Given the description of an element on the screen output the (x, y) to click on. 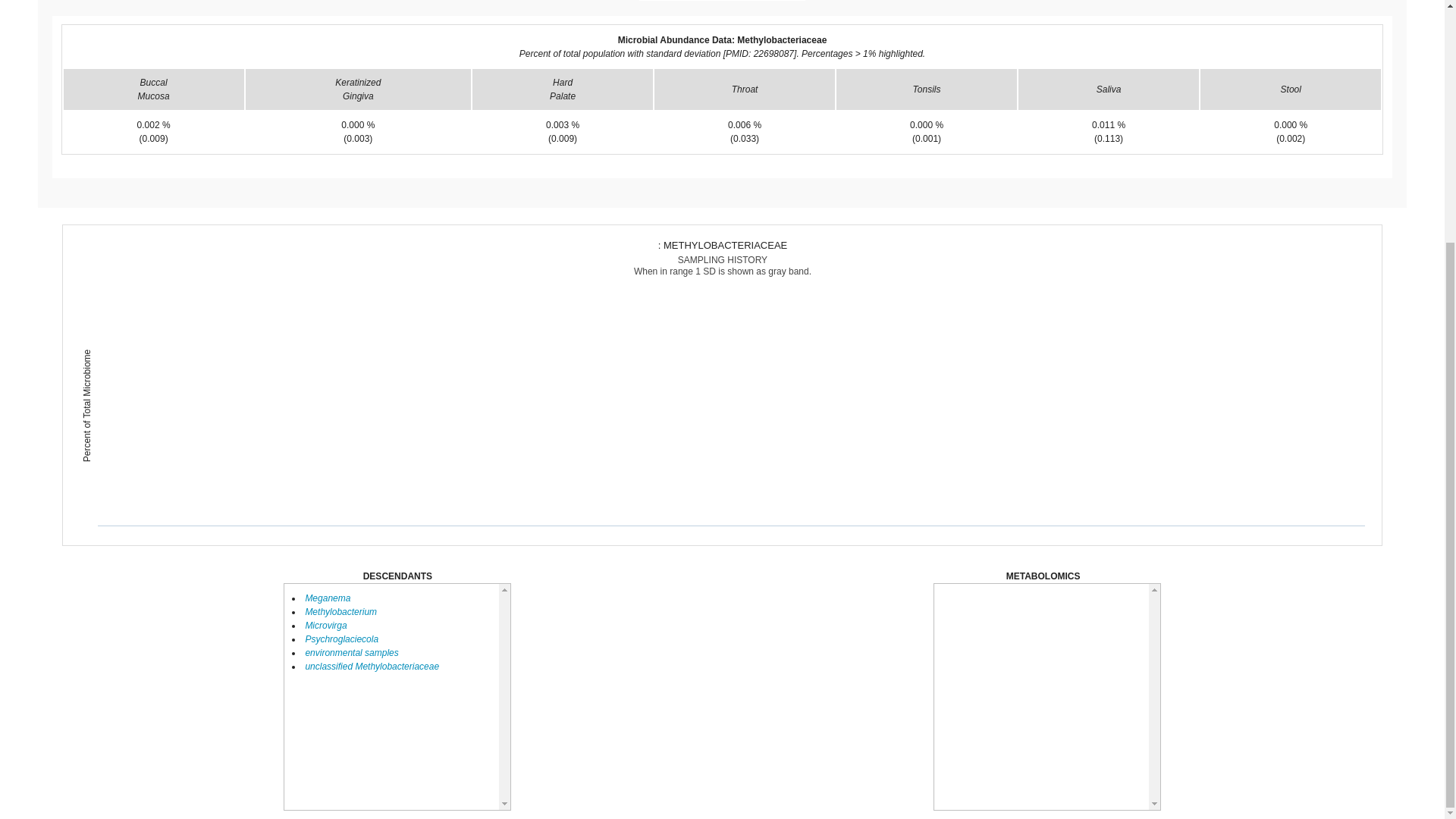
Psychroglaciecola (341, 638)
Meganema (327, 597)
Microvirga (325, 624)
Methylobacterium (340, 611)
environmental samples (350, 652)
unclassified Methylobacteriaceae (371, 665)
